Given the description of an element on the screen output the (x, y) to click on. 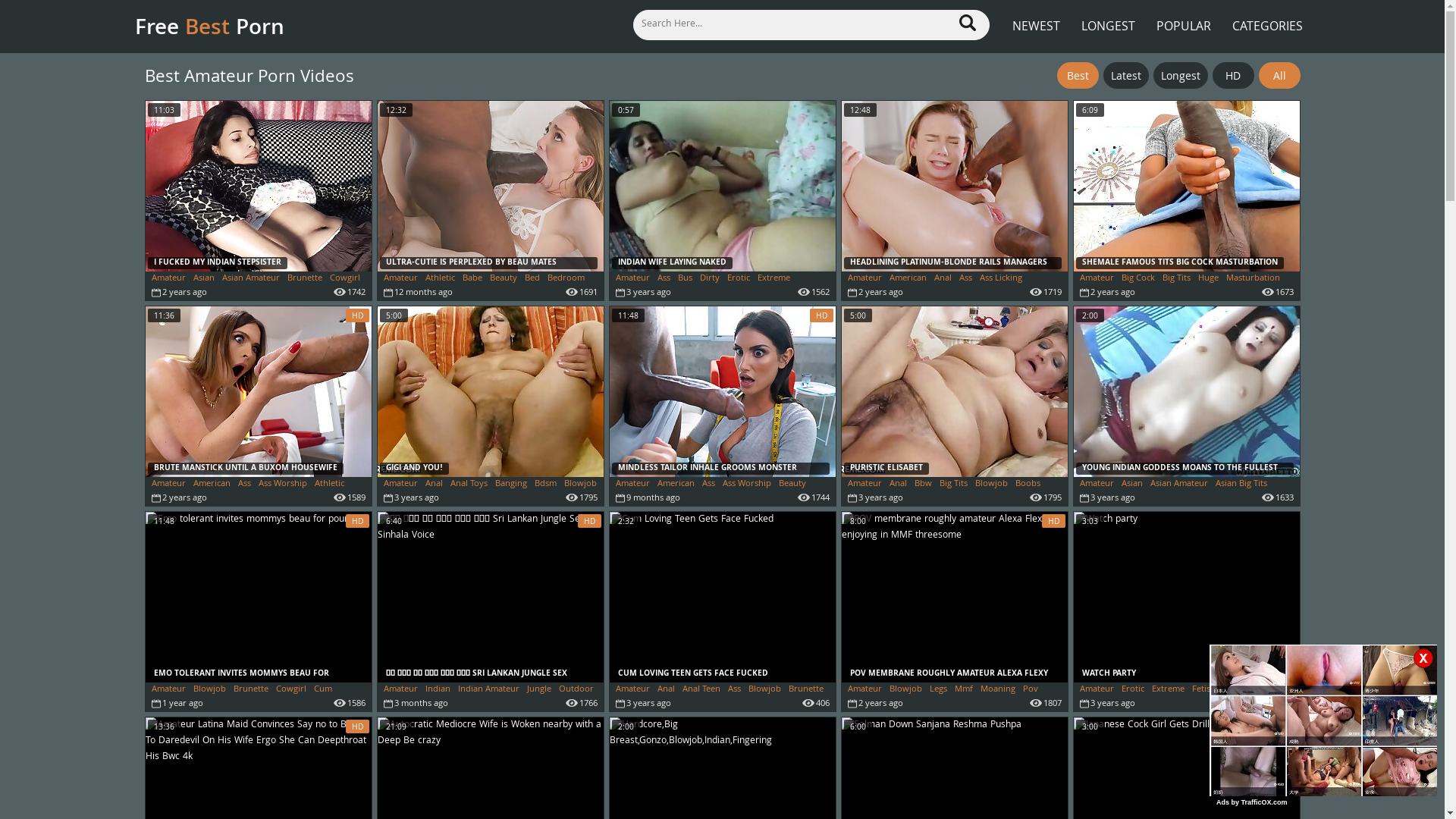
Bbw Element type: text (922, 483)
Indian Element type: text (436, 689)
I FUCKED MY INDIAN STEPSISTER Element type: text (258, 185)
Mmf Element type: text (962, 689)
Amateur Element type: text (632, 278)
Banging Element type: text (510, 483)
Amateur Element type: text (168, 278)
Athletic Element type: text (439, 278)
Beauty Element type: text (791, 483)
Cowgirl Element type: text (344, 278)
INDIAN WIFE LAYING NAKED Element type: text (722, 185)
NEWEST Element type: text (1035, 17)
Cowgirl Element type: text (291, 689)
BRUTE MANSTICK UNTIL A BUXOM HOUSEWIFE Element type: text (258, 391)
Asian Mature Element type: text (1105, 496)
Amateur Element type: text (400, 689)
Free Best Porn Element type: text (225, 25)
Anal Element type: text (897, 483)
Outdoor Element type: text (575, 689)
Fetish Element type: text (1203, 689)
Blowjob Element type: text (580, 483)
WATCH PARTY Element type: text (1186, 596)
CATEGORIES Element type: text (1266, 17)
All Element type: text (1279, 75)
Anal Teen Element type: text (701, 689)
POPULAR Element type: text (1182, 17)
Amateur Element type: text (864, 278)
Ads by TrafficOX.com Element type: text (1251, 801)
Asian Element type: text (202, 278)
Asian Element type: text (1131, 483)
Extreme Element type: text (1167, 689)
Ass Element type: text (708, 483)
Beauty Element type: text (503, 278)
American Element type: text (210, 483)
Brunette Element type: text (250, 689)
HD Element type: text (1232, 75)
Amateur Element type: text (400, 483)
Amateur Element type: text (1096, 689)
Amateur Element type: text (400, 278)
Athletic Element type: text (328, 483)
Babe Element type: text (472, 278)
Blowjob Element type: text (904, 689)
Ass To Mouth Element type: text (873, 291)
Bed Element type: text (531, 278)
Big Ass Element type: text (164, 496)
Fucking Element type: text (1237, 689)
Amateur Element type: text (632, 483)
Group Element type: text (1273, 689)
Ass Element type: text (734, 689)
Anal Element type: text (942, 278)
ULTRA-CUTIE IS PERPLEXED BY BEAU MATES MONSTER EBONY CHISEL Element type: text (490, 185)
Amateur Element type: text (1096, 278)
Search X Videos Element type: hover (810, 24)
EMO TOLERANT INVITES MOMMYS BEAU FOR POUND Element type: text (258, 596)
Cumshot Element type: text (169, 702)
Sex Element type: text (390, 702)
Huge Element type: text (1208, 278)
Banging Element type: text (1154, 496)
Amateur Element type: text (168, 483)
Longest Element type: text (1179, 75)
Dirty Element type: text (708, 278)
Extreme Element type: text (772, 278)
Bedroom Element type: text (565, 278)
Boobs Element type: text (1026, 483)
Big Tits Element type: text (952, 483)
Best Element type: text (1077, 75)
Blowjob Element type: text (208, 689)
Jungle Element type: text (538, 689)
Amateur Element type: text (864, 483)
Big Tits Element type: text (1175, 278)
Anal Element type: text (665, 689)
Erotic Element type: text (737, 278)
GIGI AND YOU! Element type: text (490, 391)
Brunette Element type: text (303, 278)
Blowjob Element type: text (991, 483)
Indian Amateur Element type: text (488, 689)
Moaning Element type: text (996, 689)
Ass Worship Element type: text (745, 483)
Ass Element type: text (662, 278)
Shemale Element type: text (1096, 291)
SHEMALE FAMOUS TITS BIG COCK MASTURBATION Element type: text (1186, 185)
Asian Big Tits Element type: text (1240, 483)
Anal Element type: text (433, 483)
Anal Toys Element type: text (468, 483)
Amateur Element type: text (1096, 483)
Asian Amateur Element type: text (250, 278)
American Element type: text (906, 278)
Legs Element type: text (938, 689)
Amateur Element type: text (864, 689)
Blowjob Element type: text (763, 689)
Masturbation Element type: text (1252, 278)
Pov Element type: text (1029, 689)
Cum Element type: text (322, 689)
LONGEST Element type: text (1107, 17)
Hardcore Element type: text (169, 291)
Latest Element type: text (1125, 75)
Ass Element type: text (964, 278)
Erotic Element type: text (1131, 689)
Asian Amateur Element type: text (1178, 483)
Amateur Element type: text (168, 689)
Big Ass Element type: text (629, 496)
CUM LOVING TEEN GETS FACE FUCKED Element type: text (722, 596)
Amateur Element type: text (632, 689)
Ass Element type: text (244, 483)
Ass Licking Element type: text (1000, 278)
Ass Worship Element type: text (281, 483)
PURISTIC ELISABET Element type: text (954, 391)
American Element type: text (674, 483)
Big Cock Element type: text (1137, 278)
Brunette Element type: text (805, 689)
Bdsm Element type: text (544, 483)
MINDLESS TAILOR INHALE GROOMS MONSTER SOOTY HARD-ON Element type: text (722, 391)
Bus Element type: text (684, 278)
